Given the description of an element on the screen output the (x, y) to click on. 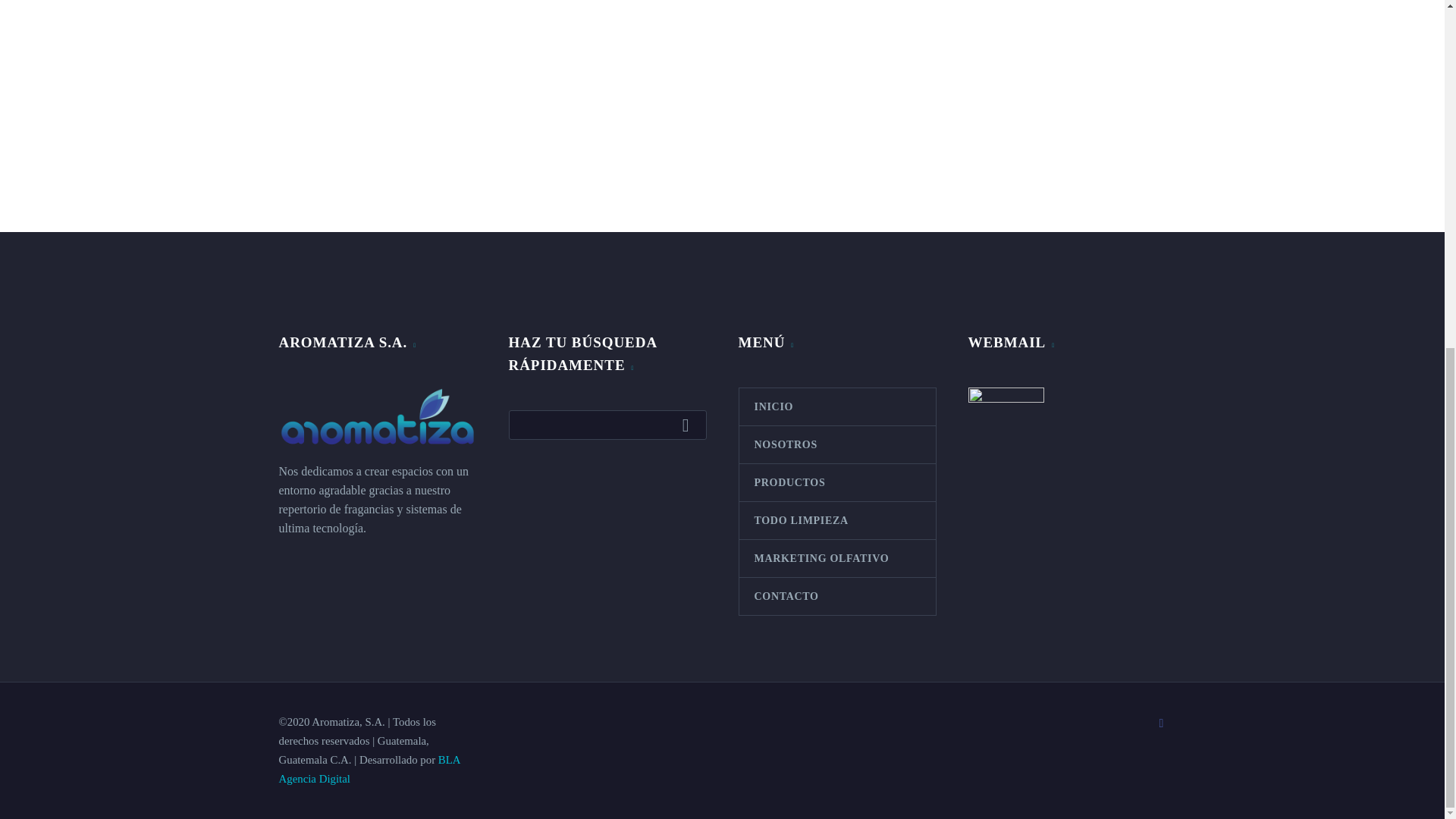
INICIO (836, 406)
TODO LIMPIEZA (836, 520)
BUSCAR (689, 424)
PRODUCTOS (836, 482)
Facebook (1161, 723)
NOSOTROS (836, 444)
CONTACTO (836, 596)
BLA Agencia Digital (369, 768)
MARKETING OLFATIVO (836, 558)
